Given the description of an element on the screen output the (x, y) to click on. 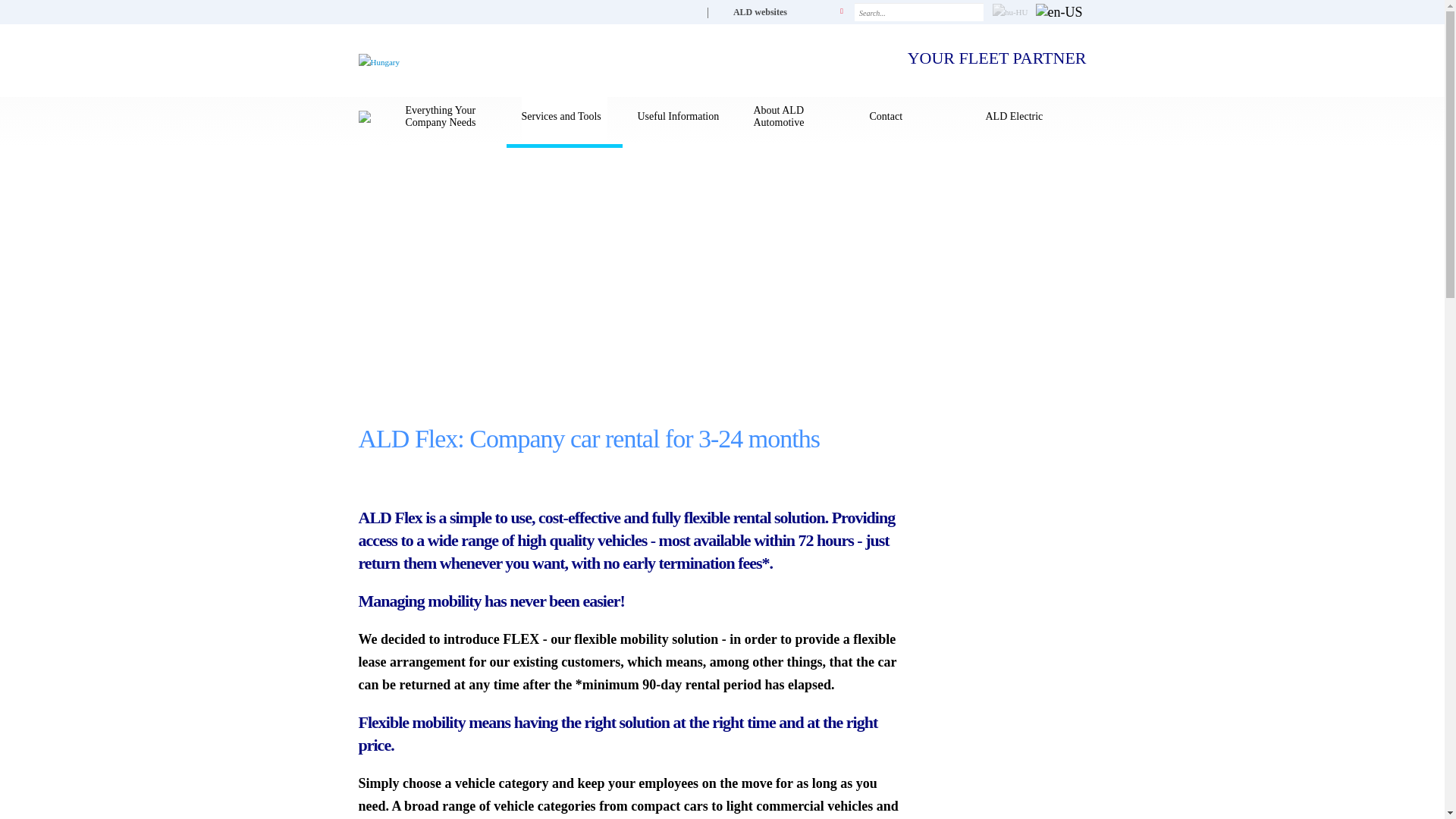
Useful Information (679, 116)
Services and Tools (564, 116)
Everything Your Company Needs (447, 116)
Clear search text (969, 14)
About ALD Automotive (797, 116)
Hungary (378, 60)
